Given the description of an element on the screen output the (x, y) to click on. 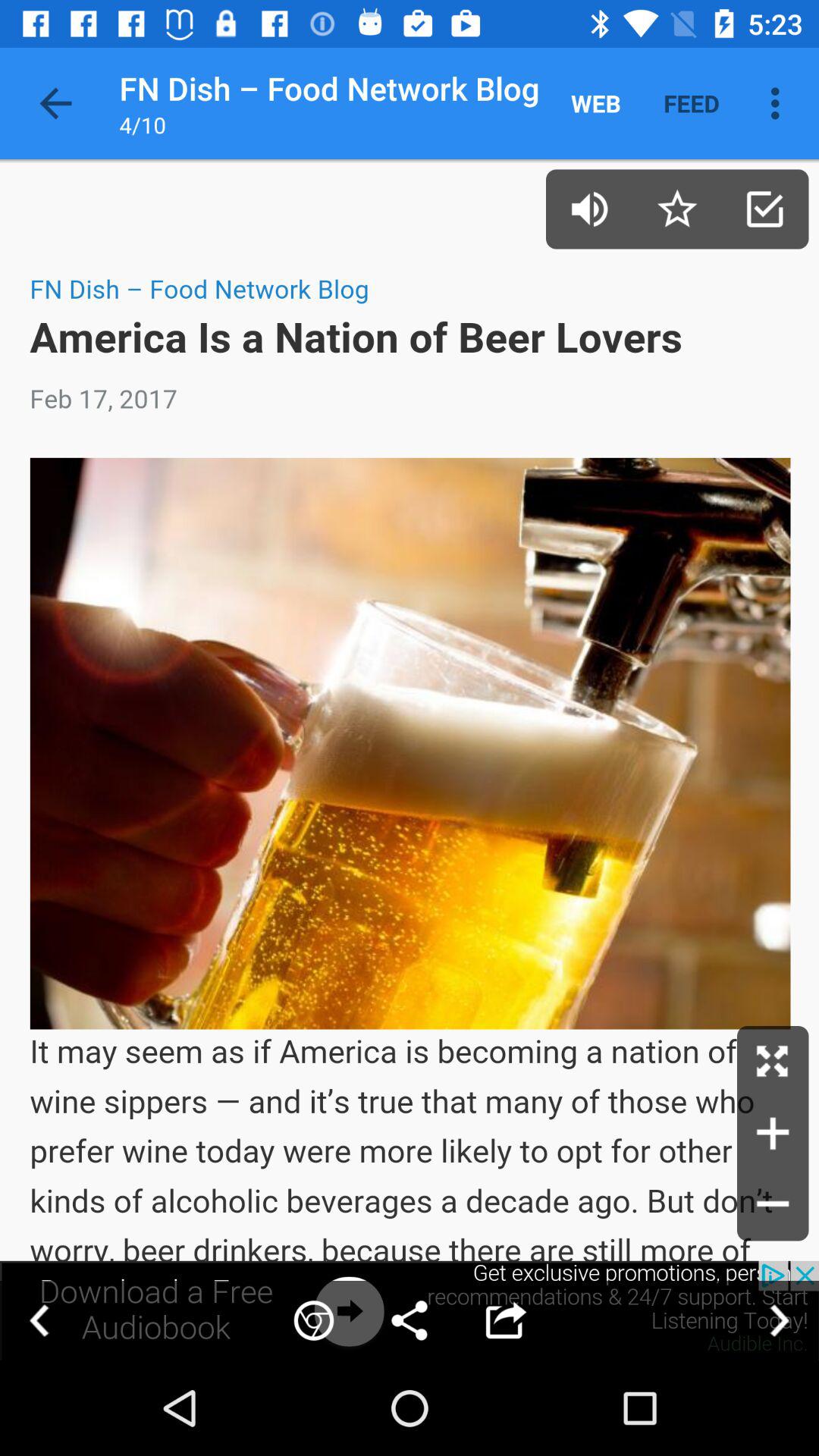
sound on/off (589, 209)
